Given the description of an element on the screen output the (x, y) to click on. 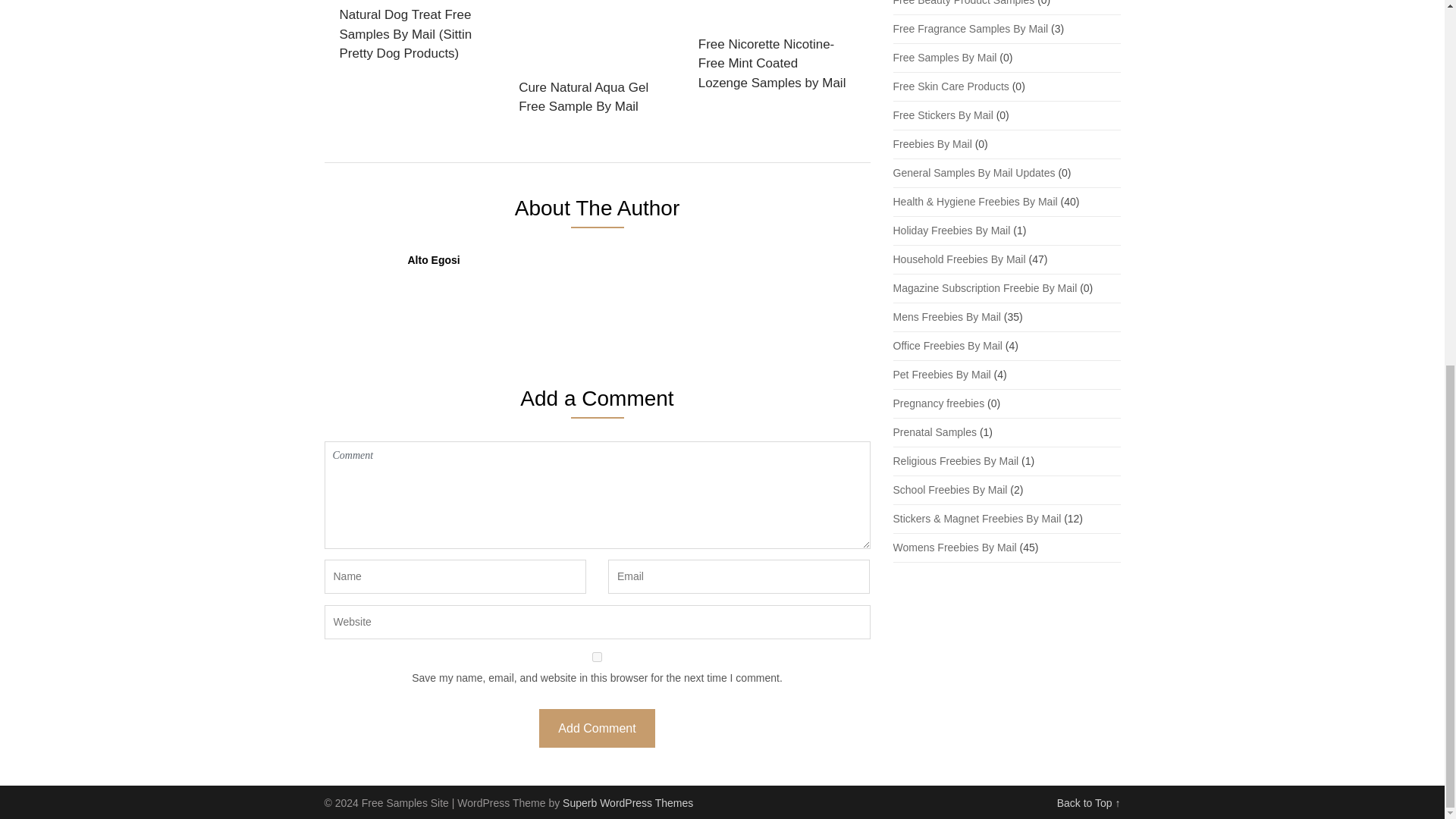
General Samples By Mail Updates (974, 173)
Free Stickers By Mail (942, 114)
Free Beauty Product Samples (964, 2)
yes (597, 656)
Freebies By Mail (932, 143)
Cure Natural Aqua Gel Free Sample By Mail (593, 62)
Cure Natural Aqua Gel Free Sample By Mail (593, 62)
Free Skin Care Products (951, 86)
Add Comment (595, 728)
